Given the description of an element on the screen output the (x, y) to click on. 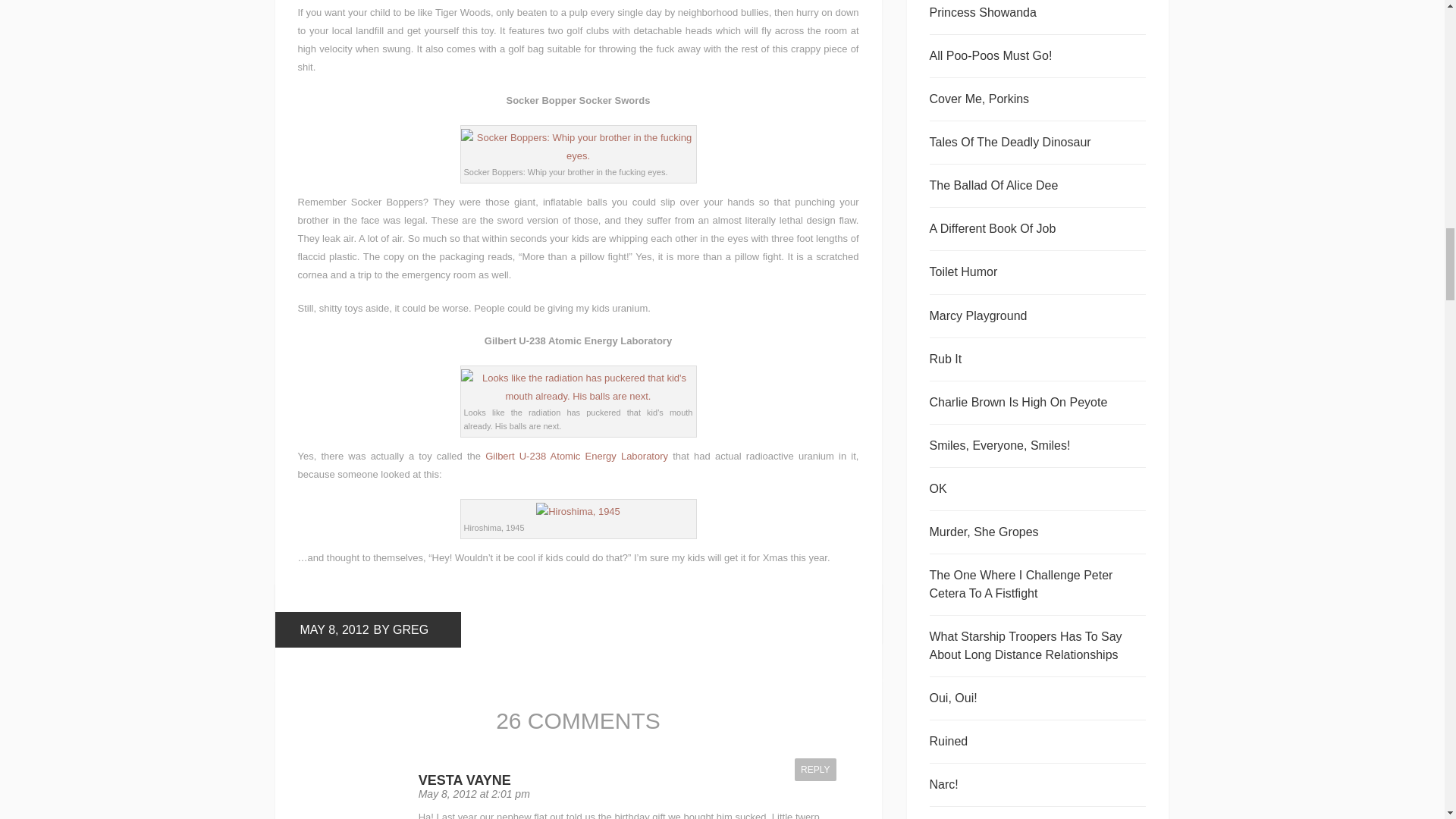
VESTA VAYNE (465, 780)
REPLY (814, 769)
BY GREG (400, 630)
Socker Boppers: Whip your brother in the fucking eyes. (578, 146)
Hiroshima, 1945 (577, 511)
Gilbert U-238 Atomic Energy Laboratory (576, 455)
MAY 8, 2012 (334, 630)
